Given the description of an element on the screen output the (x, y) to click on. 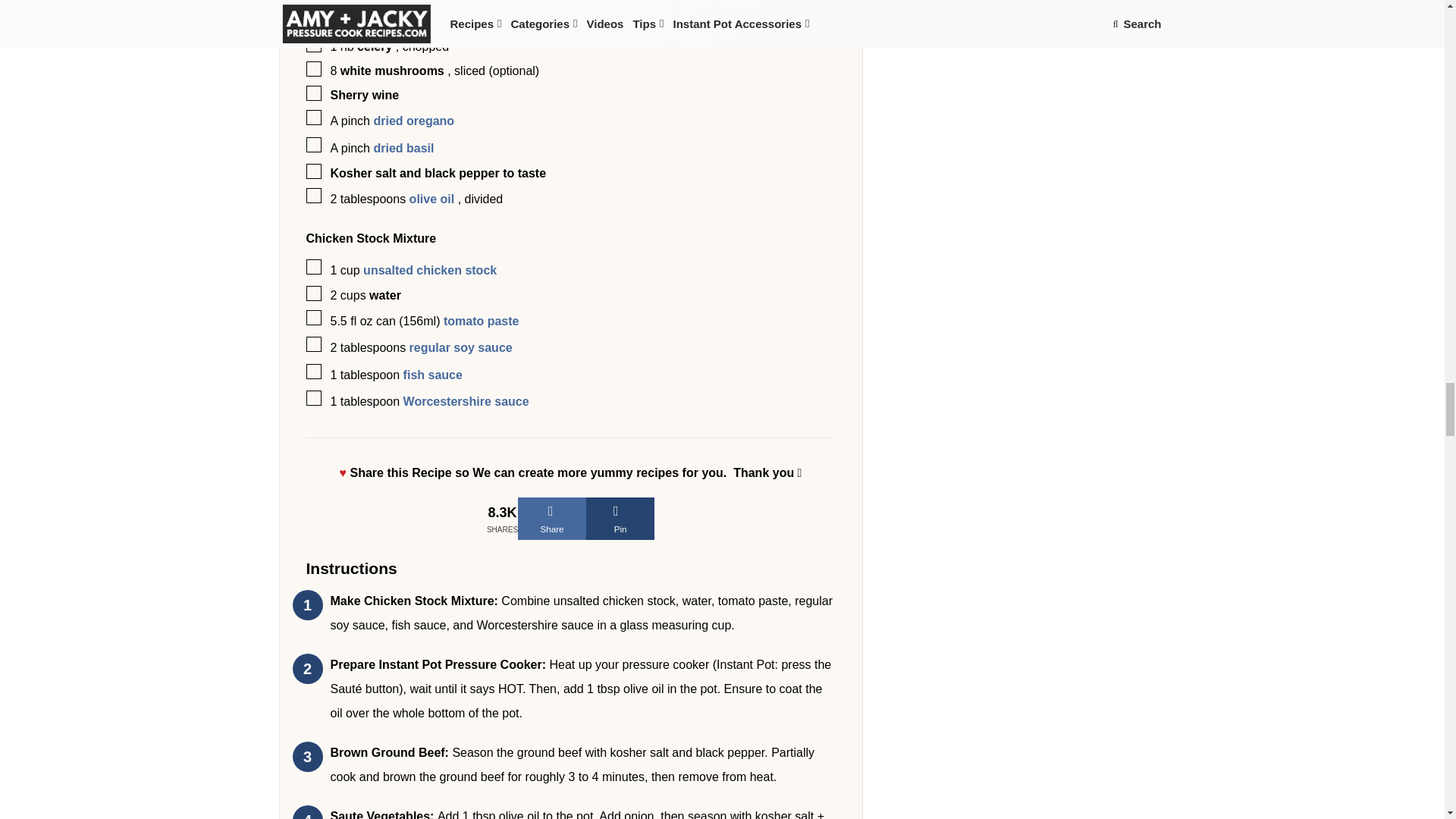
Share on Share (552, 518)
Share on Pin (619, 518)
